Given the description of an element on the screen output the (x, y) to click on. 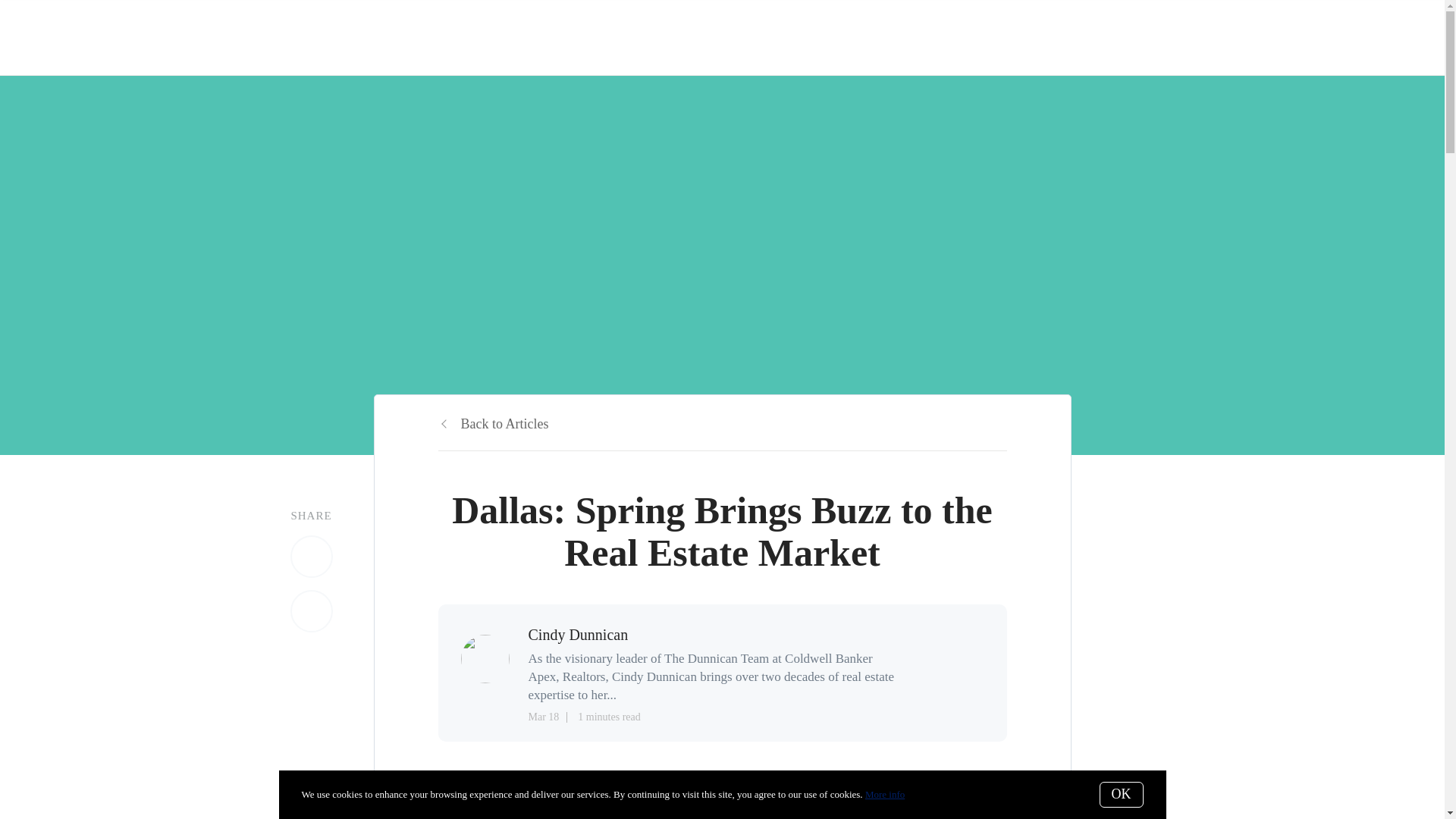
OK (1120, 794)
More info (884, 794)
Back to Articles (493, 423)
